Given the description of an element on the screen output the (x, y) to click on. 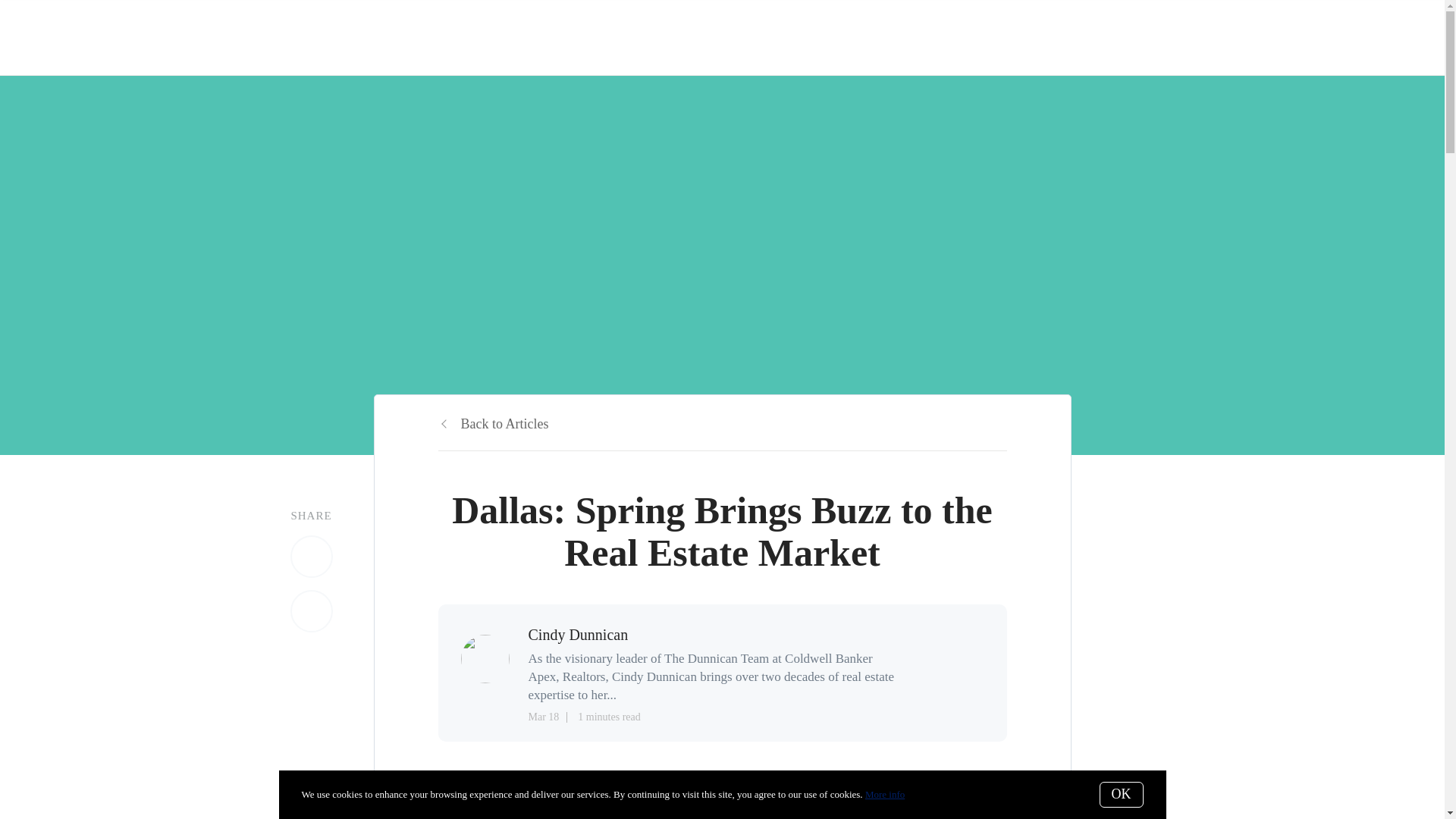
OK (1120, 794)
More info (884, 794)
Back to Articles (493, 423)
